Given the description of an element on the screen output the (x, y) to click on. 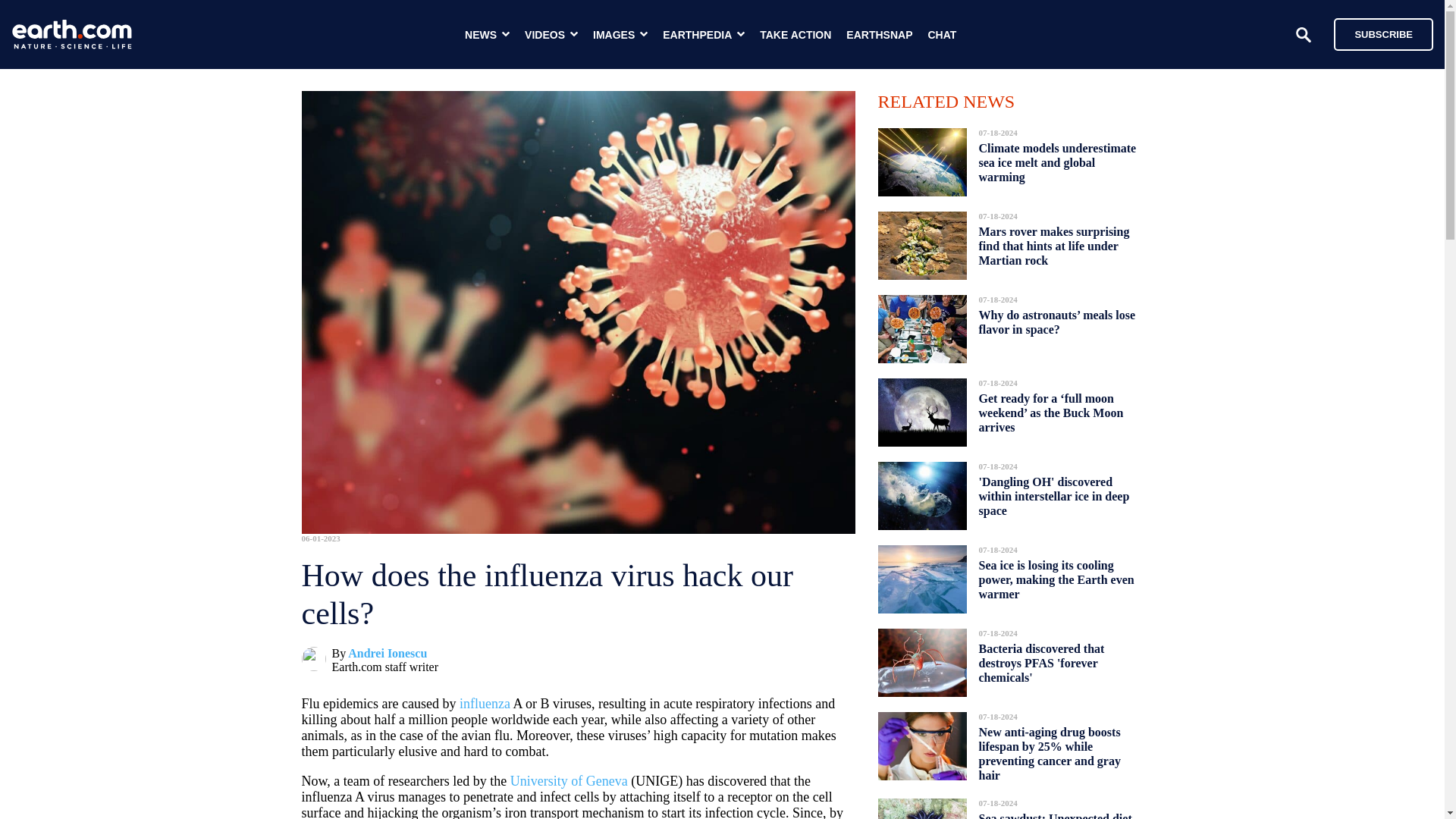
TAKE ACTION (795, 34)
Bacteria discovered that destroys PFAS 'forever chemicals' (1040, 662)
Climate models underestimate sea ice melt and global warming (1056, 162)
SUBSCRIBE (1382, 34)
SUBSCRIBE (1375, 33)
EARTHSNAP (878, 34)
University of Geneva (569, 780)
Sea sawdust: Unexpected diet of crown-of-thorns starfish (1054, 811)
influenza (485, 703)
CHAT (941, 34)
Andrei Ionescu (386, 653)
